Given the description of an element on the screen output the (x, y) to click on. 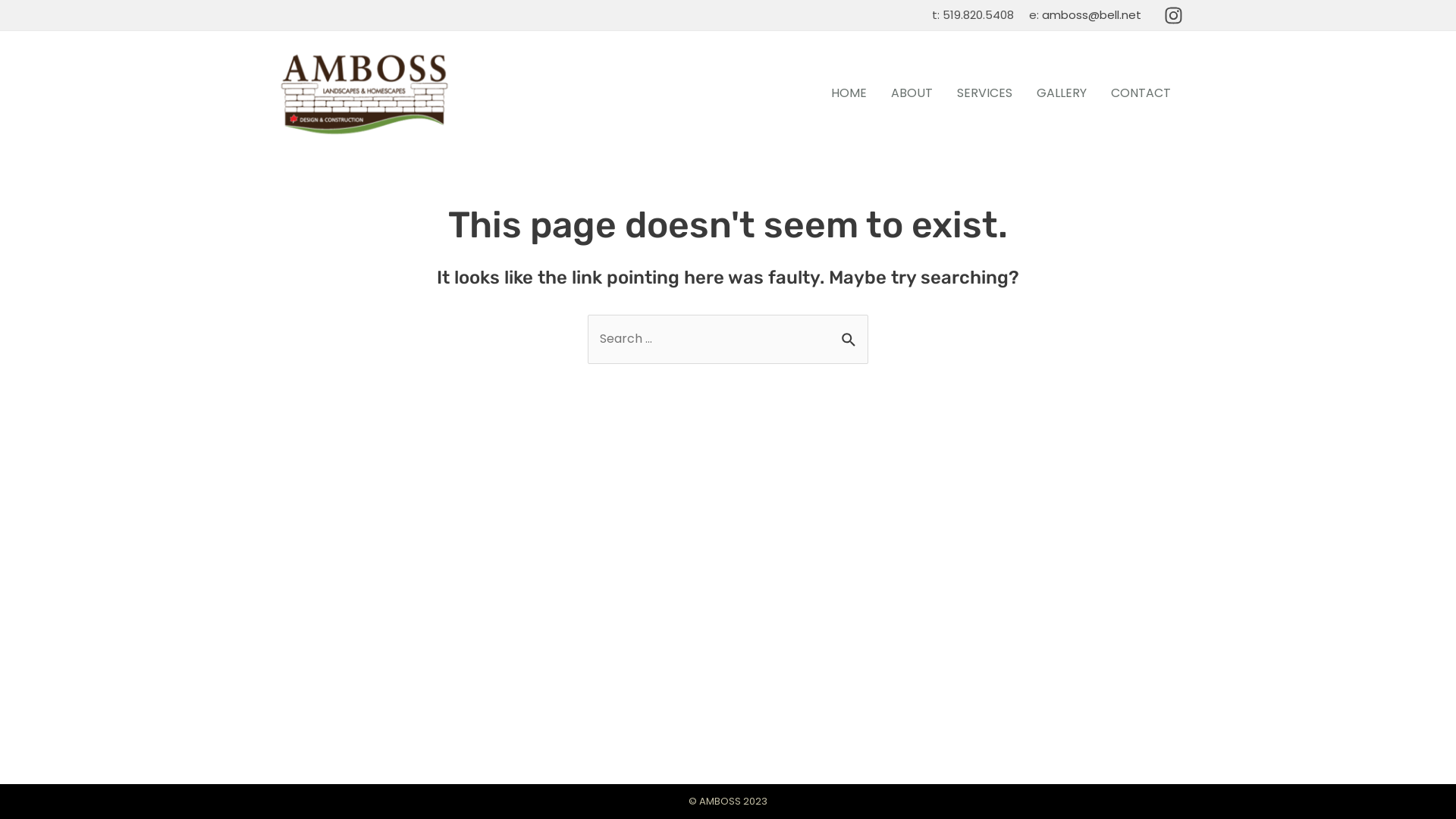
SERVICES Element type: text (984, 93)
ABOUT Element type: text (911, 93)
amboss@bell.net Element type: text (1091, 14)
CONTACT Element type: text (1140, 93)
GALLERY Element type: text (1061, 93)
Search Element type: text (851, 331)
HOME Element type: text (848, 93)
